Given the description of an element on the screen output the (x, y) to click on. 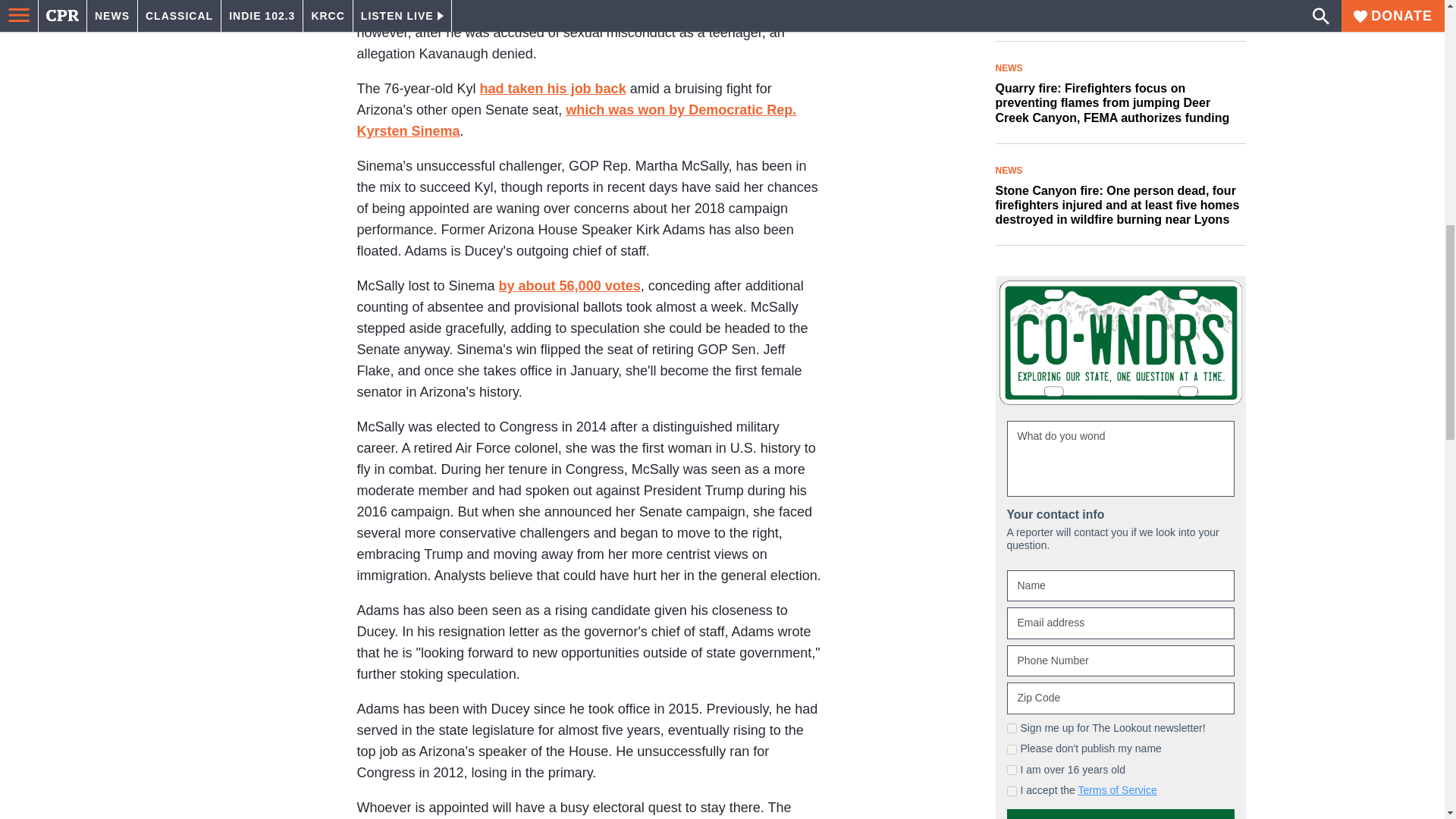
on (1011, 791)
on (1011, 749)
on (1011, 769)
on (1011, 728)
